Given the description of an element on the screen output the (x, y) to click on. 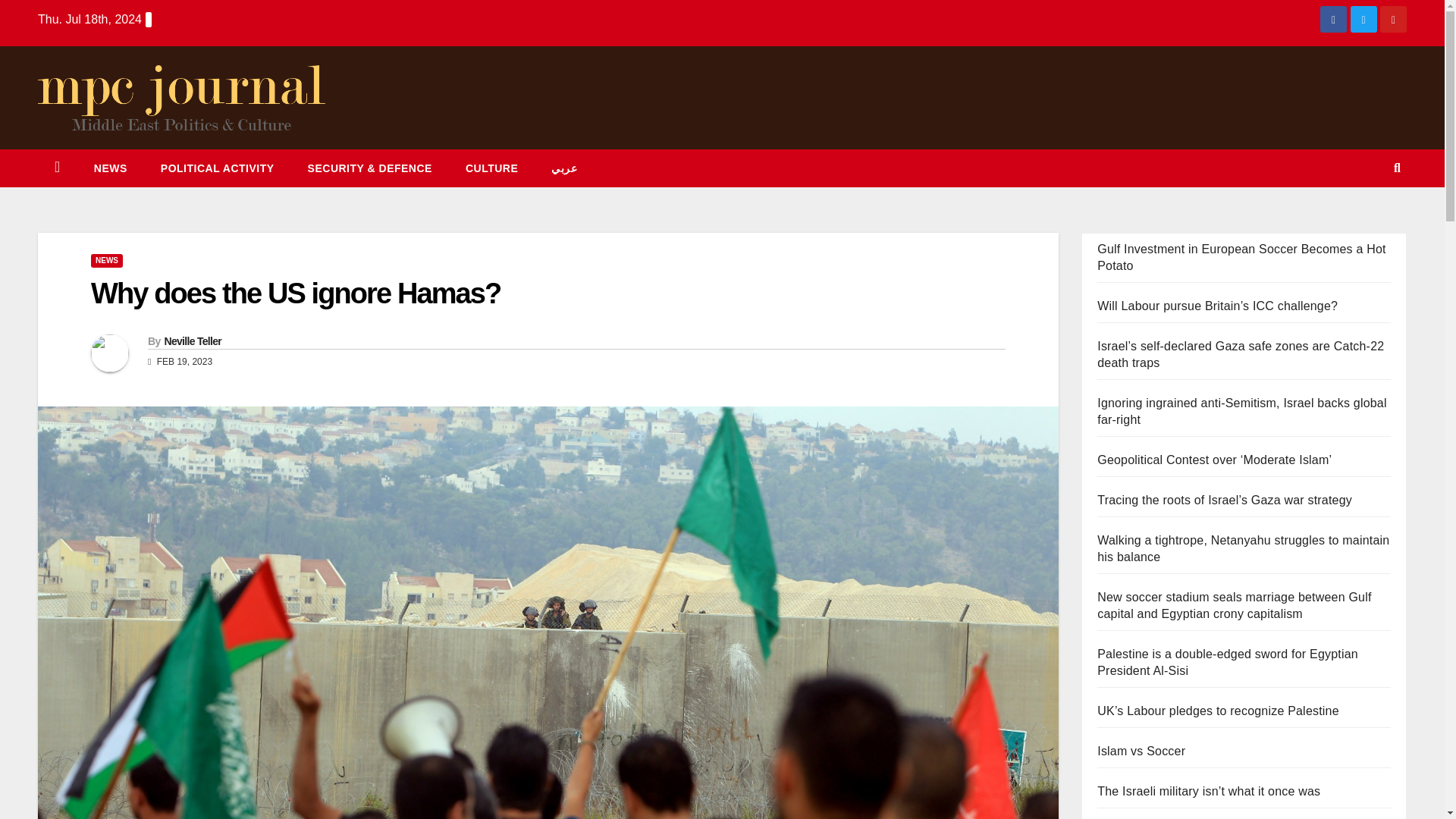
CULTURE (491, 168)
Why does the US ignore Hamas? (295, 293)
NEWS (106, 260)
Neville Teller (192, 340)
POLITICAL ACTIVITY (217, 168)
News (110, 168)
Political activity (217, 168)
NEWS (110, 168)
